Given the description of an element on the screen output the (x, y) to click on. 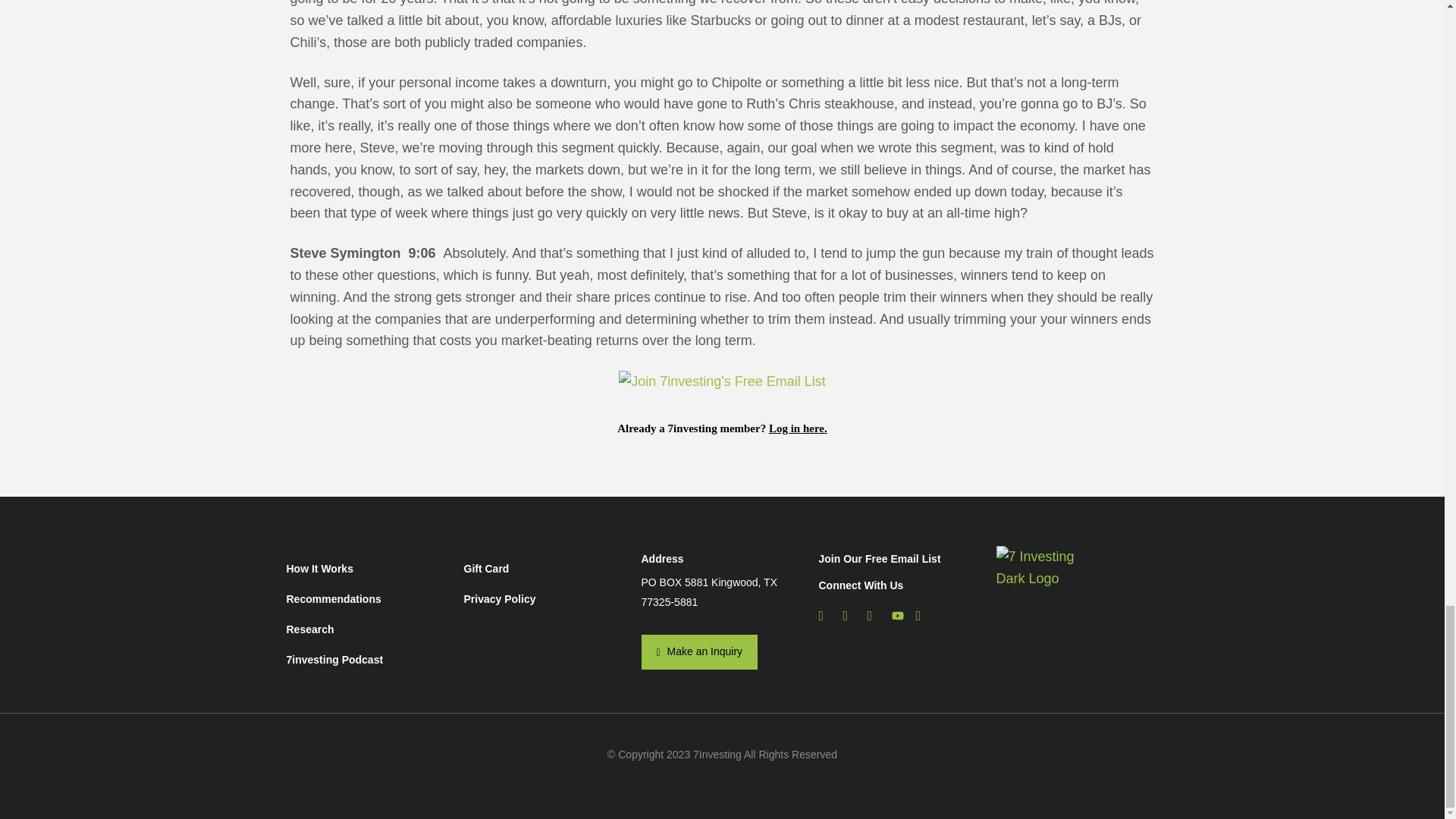
How It Works (367, 572)
Join Our Free Email List (879, 558)
Gift Card (545, 572)
Log in here. (797, 428)
Research (367, 629)
Recommendations (367, 598)
Make an Inquiry (700, 651)
7investing Podcast (367, 659)
Privacy Policy (545, 598)
